Given the description of an element on the screen output the (x, y) to click on. 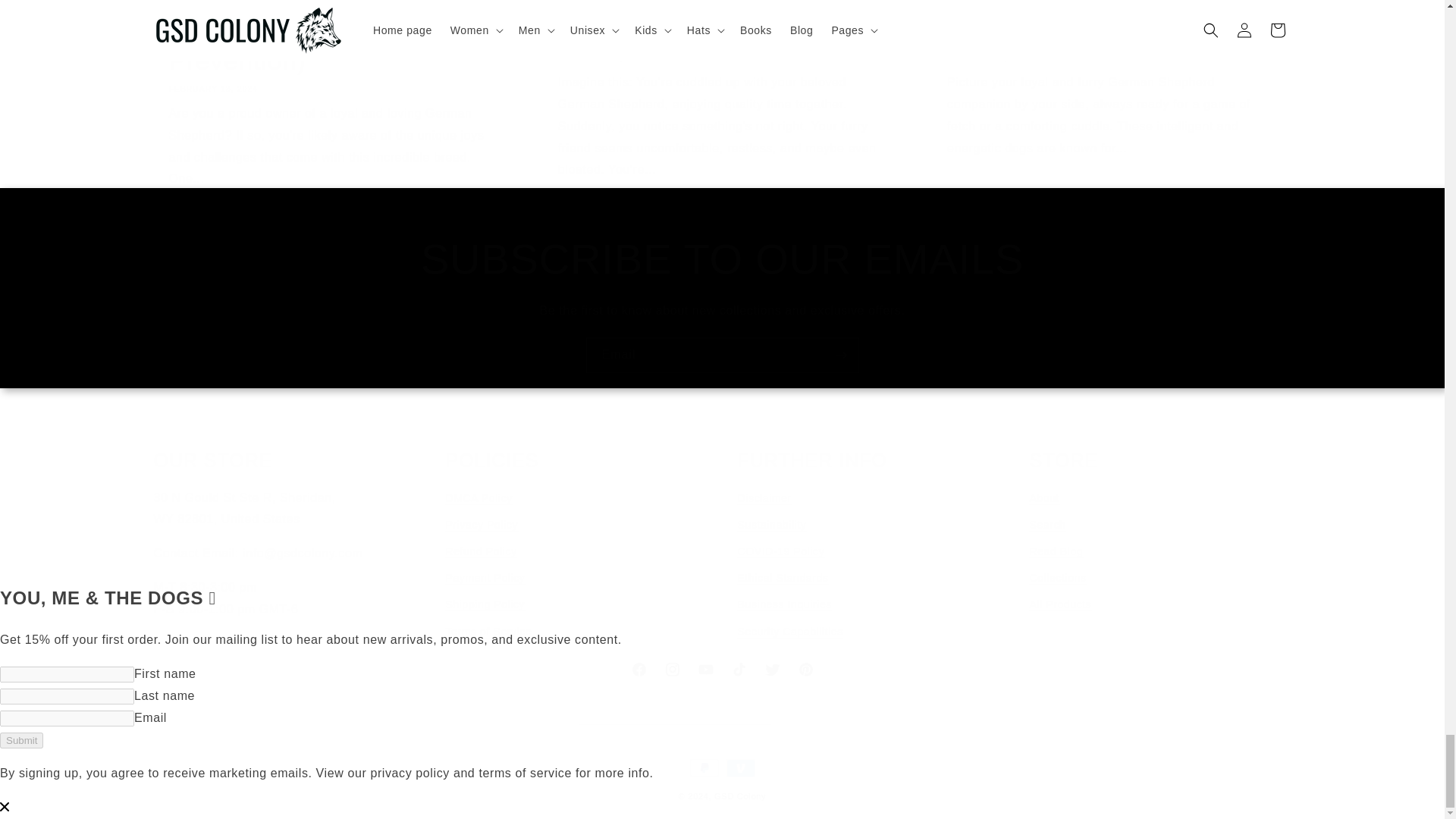
Email (721, 669)
SUBSCRIBE TO OUR EMAILS (722, 355)
